Given the description of an element on the screen output the (x, y) to click on. 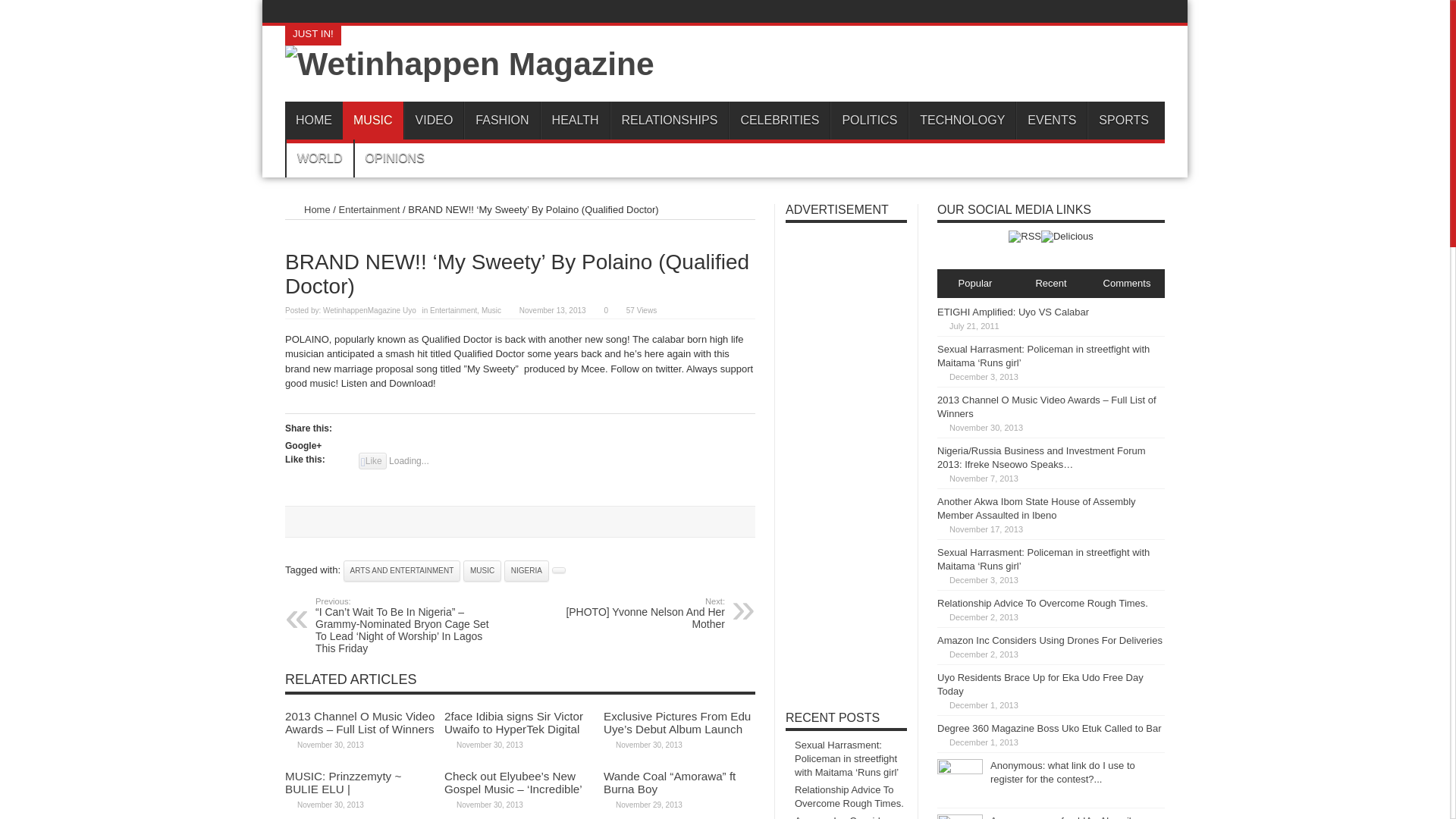
POLITICS (868, 120)
RELATIONSHIPS (669, 120)
MUSIC (372, 120)
Entertainment (369, 209)
WORLD (319, 158)
View all posts in Entertainment (453, 310)
Home (307, 209)
VIDEO (434, 120)
HOME (313, 120)
HEALTH (575, 120)
Entertainment (453, 310)
View all posts in Music (490, 310)
FASHION (501, 120)
SPORTS (1122, 120)
ARTS AND ENTERTAINMENT (402, 570)
